Given the description of an element on the screen output the (x, y) to click on. 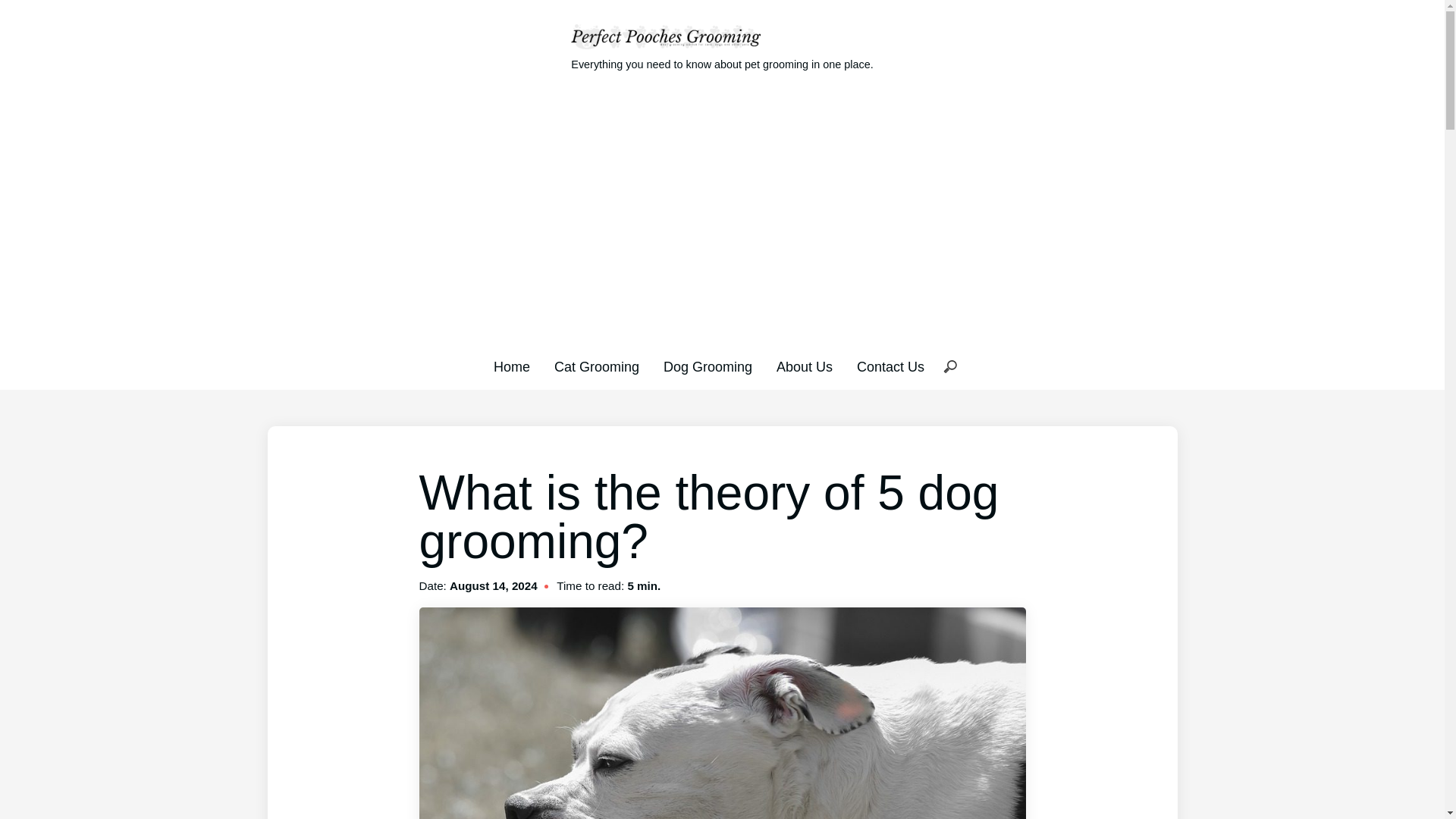
Contact Us (890, 366)
Dog Grooming (707, 366)
About Us (804, 366)
Home (511, 366)
Search for: (949, 367)
Cat Grooming (596, 366)
